Given the description of an element on the screen output the (x, y) to click on. 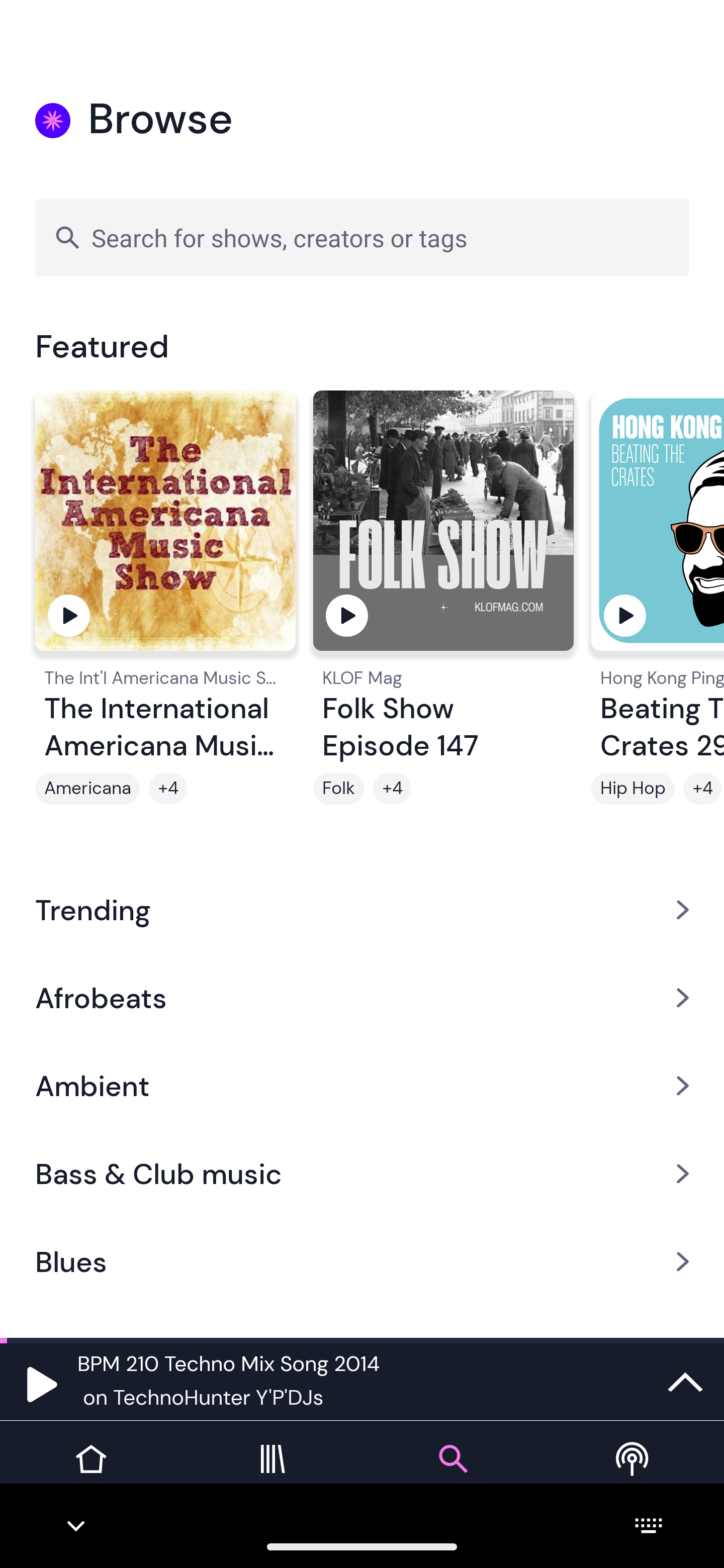
Search for shows, creators or tags (361, 237)
Americana (87, 788)
Folk (338, 788)
Hip Hop (632, 788)
Trending (361, 909)
Afrobeats (361, 997)
Ambient (361, 1085)
Bass & Club music (361, 1174)
Blues (361, 1262)
Home tab (90, 1473)
Library tab (271, 1473)
Browse tab (452, 1473)
Live tab (633, 1473)
